Given the description of an element on the screen output the (x, y) to click on. 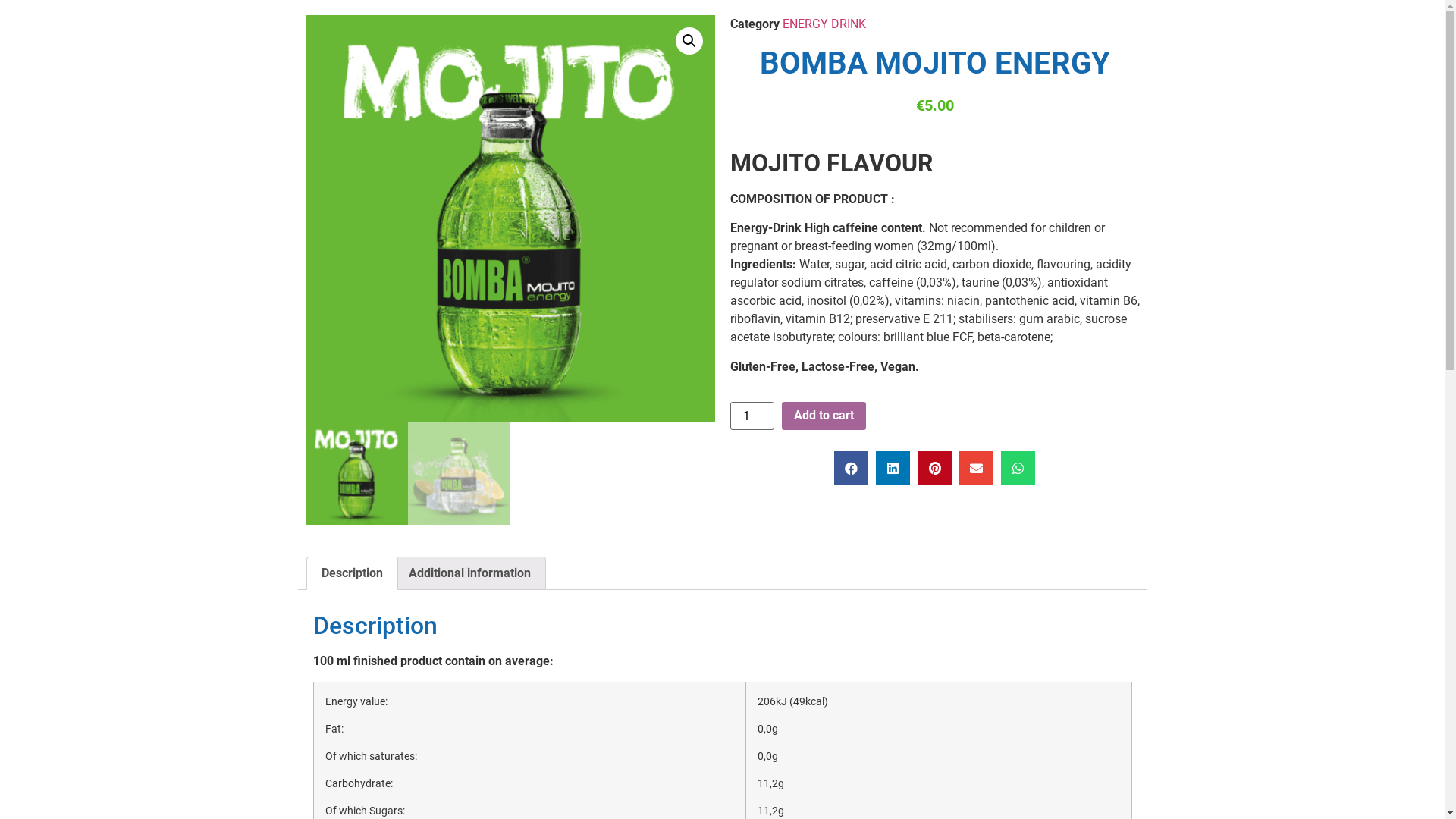
Mojito Element type: hover (509, 218)
Additional information Element type: text (469, 573)
ENERGY DRINK Element type: text (824, 23)
Add to cart Element type: text (823, 415)
Description Element type: text (351, 573)
